Given the description of an element on the screen output the (x, y) to click on. 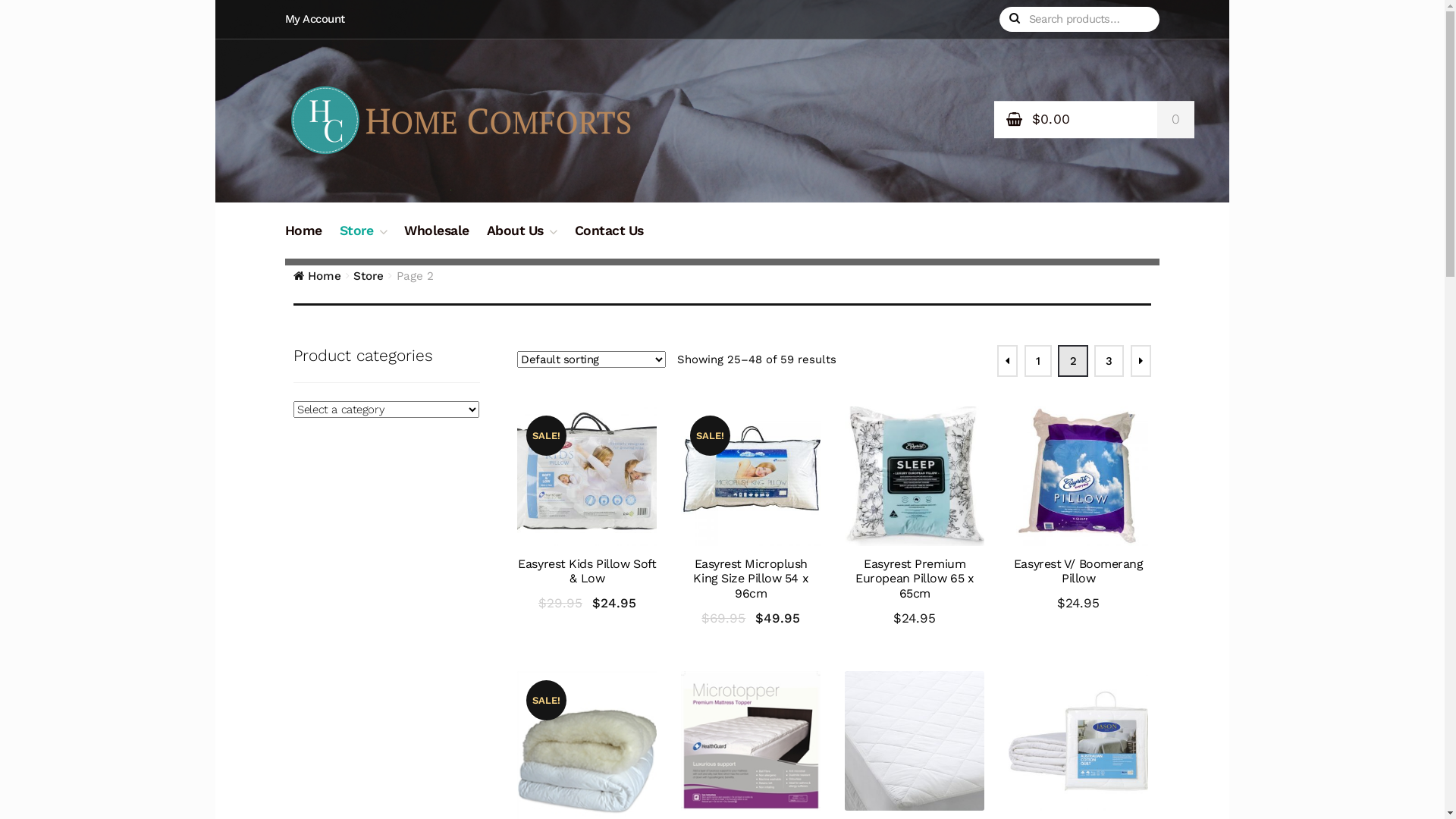
Easyrest Kids Pillow Soft & Low
SALE!
$29.95 $24.95 Element type: text (586, 510)
My Account Element type: text (319, 18)
1 Element type: text (1037, 360)
Store Element type: text (368, 275)
IN2LINENMTSGL-1-1 Element type: hover (750, 740)
Skip to navigation Element type: text (341, 10)
australian-cotton-mattress-protector Element type: hover (914, 740)
Contact Us Element type: text (608, 238)
cotton Element type: hover (1078, 740)
Easyrest Premium European Pillow 65 x 65cm
$24.95 Element type: text (914, 517)
v pillow Element type: hover (1078, 476)
$0.00
0 Element type: text (1094, 119)
Home Element type: text (303, 238)
About Us Element type: text (521, 238)
Search Element type: text (1033, 19)
Store Element type: text (362, 238)
Easyrest V/ Boomerang Pillow
$24.95 Element type: text (1078, 510)
king Element type: hover (750, 476)
img505 Element type: hover (586, 476)
Euro pillow easyrest Element type: hover (914, 476)
Skip to content Element type: text (333, 10)
Wholesale Element type: text (436, 238)
3 Element type: text (1108, 360)
Home Element type: text (317, 275)
